Given the description of an element on the screen output the (x, y) to click on. 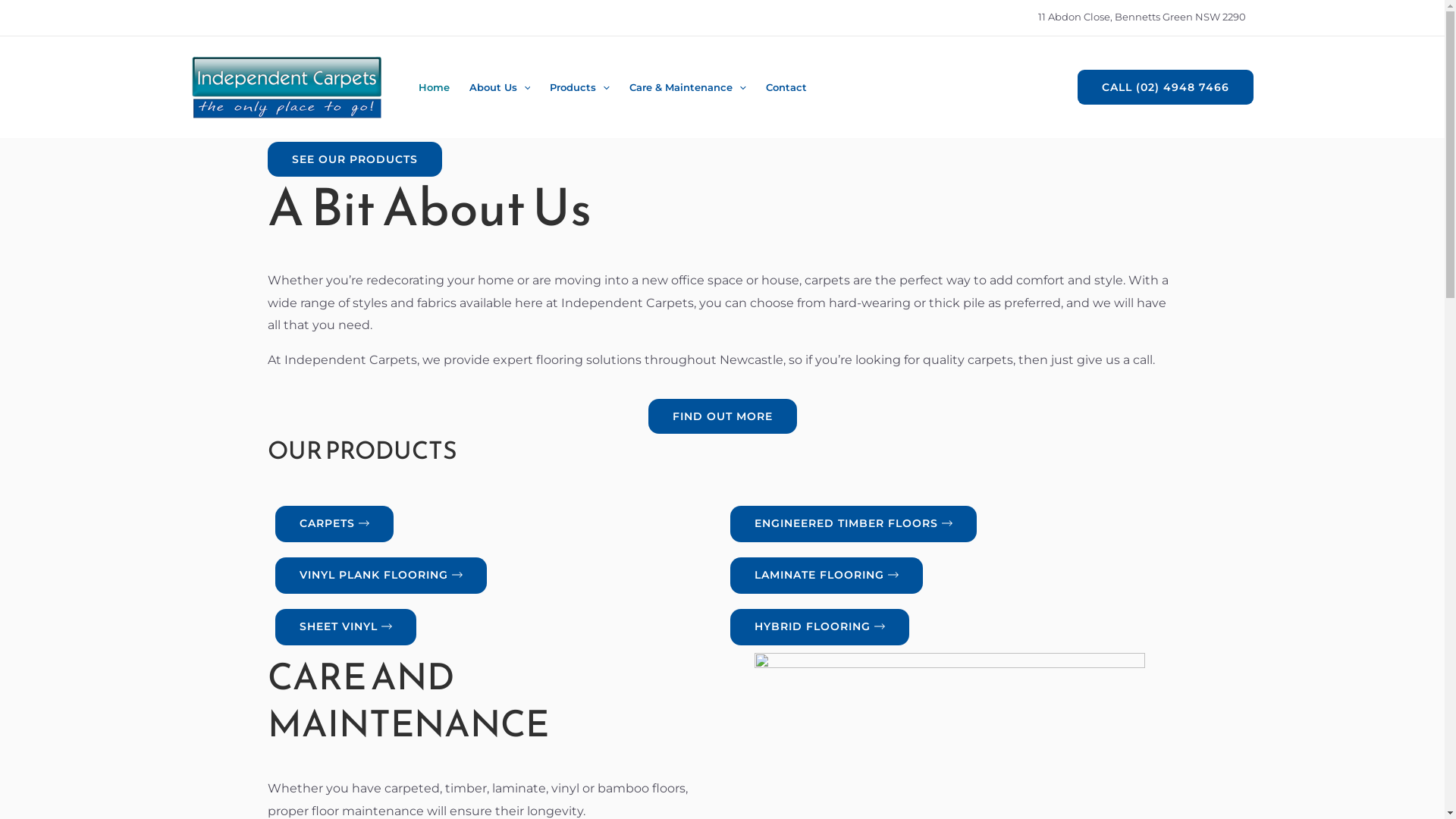
ENGINEERED TIMBER FLOORS Element type: text (852, 523)
LAMINATE FLOORING Element type: text (825, 574)
SHEET VINYL Element type: text (344, 626)
About Us Element type: text (499, 87)
Products Element type: text (579, 87)
FIND OUT MORE Element type: text (721, 415)
CALL (02) 4948 7466 Element type: text (1164, 86)
HYBRID FLOORING Element type: text (818, 626)
Home Element type: text (432, 87)
Care & Maintenance Element type: text (687, 87)
Contact Element type: text (786, 87)
CARPETS Element type: text (333, 523)
VINYL PLANK FLOORING Element type: text (380, 574)
SEE OUR PRODUCTS Element type: text (353, 158)
